Given the description of an element on the screen output the (x, y) to click on. 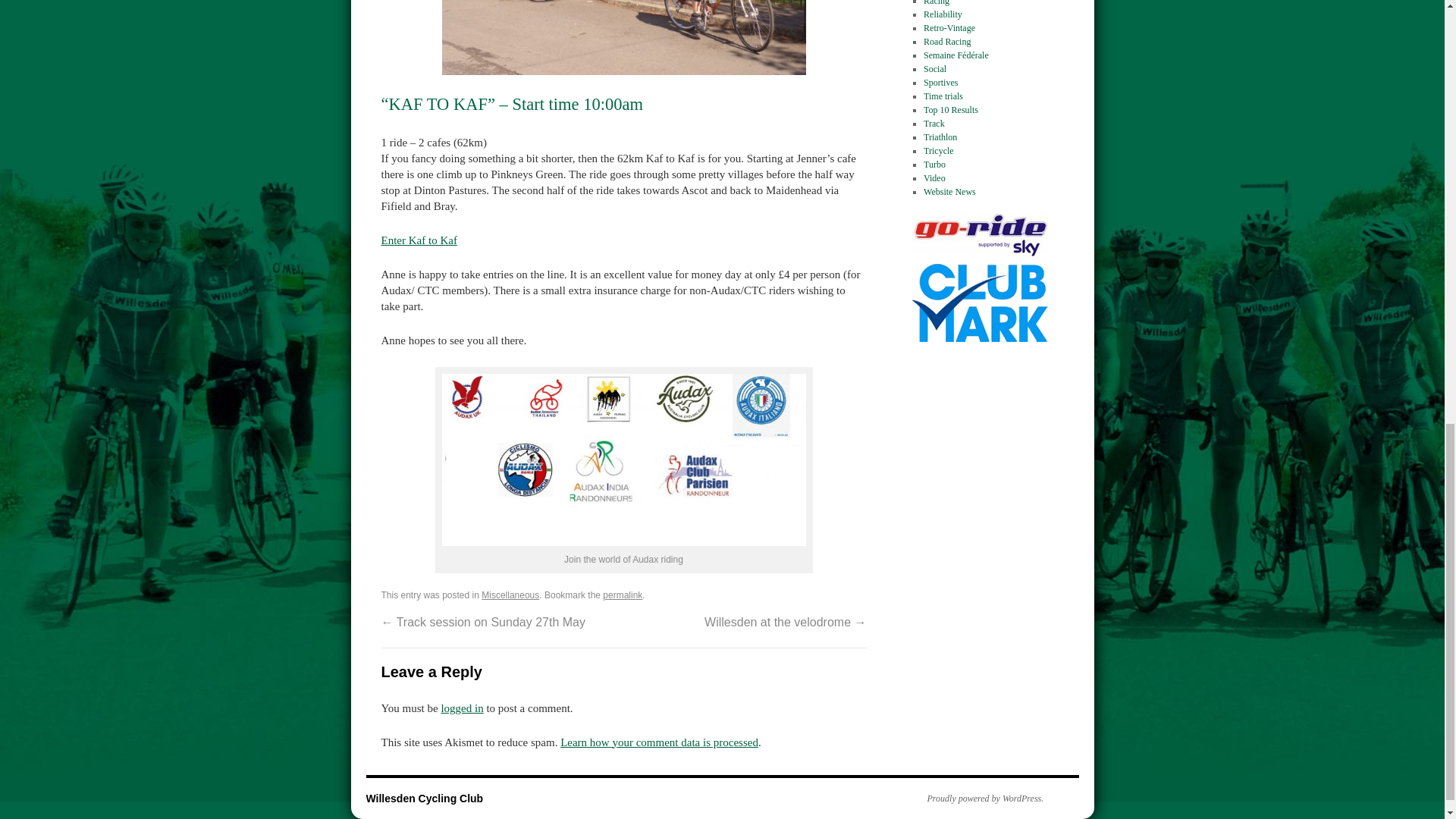
Willesden Cycling Club (424, 797)
Enter Kaf to Kaf (418, 239)
Semantic Personal Publishing Platform (977, 797)
